Given the description of an element on the screen output the (x, y) to click on. 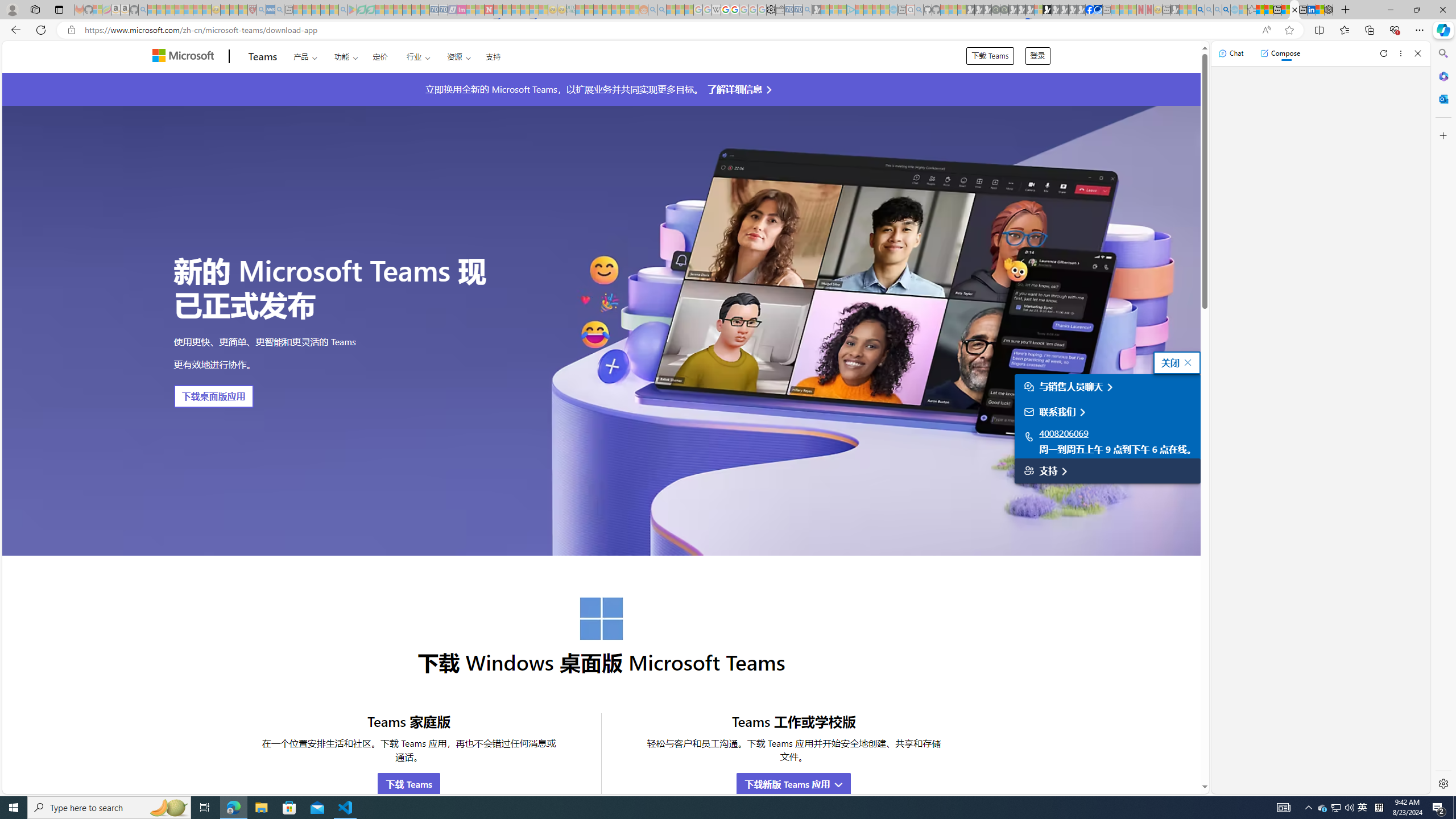
LinkedIn (1311, 9)
Bing Real Estate - Home sales and rental listings - Sleeping (806, 9)
